Given the description of an element on the screen output the (x, y) to click on. 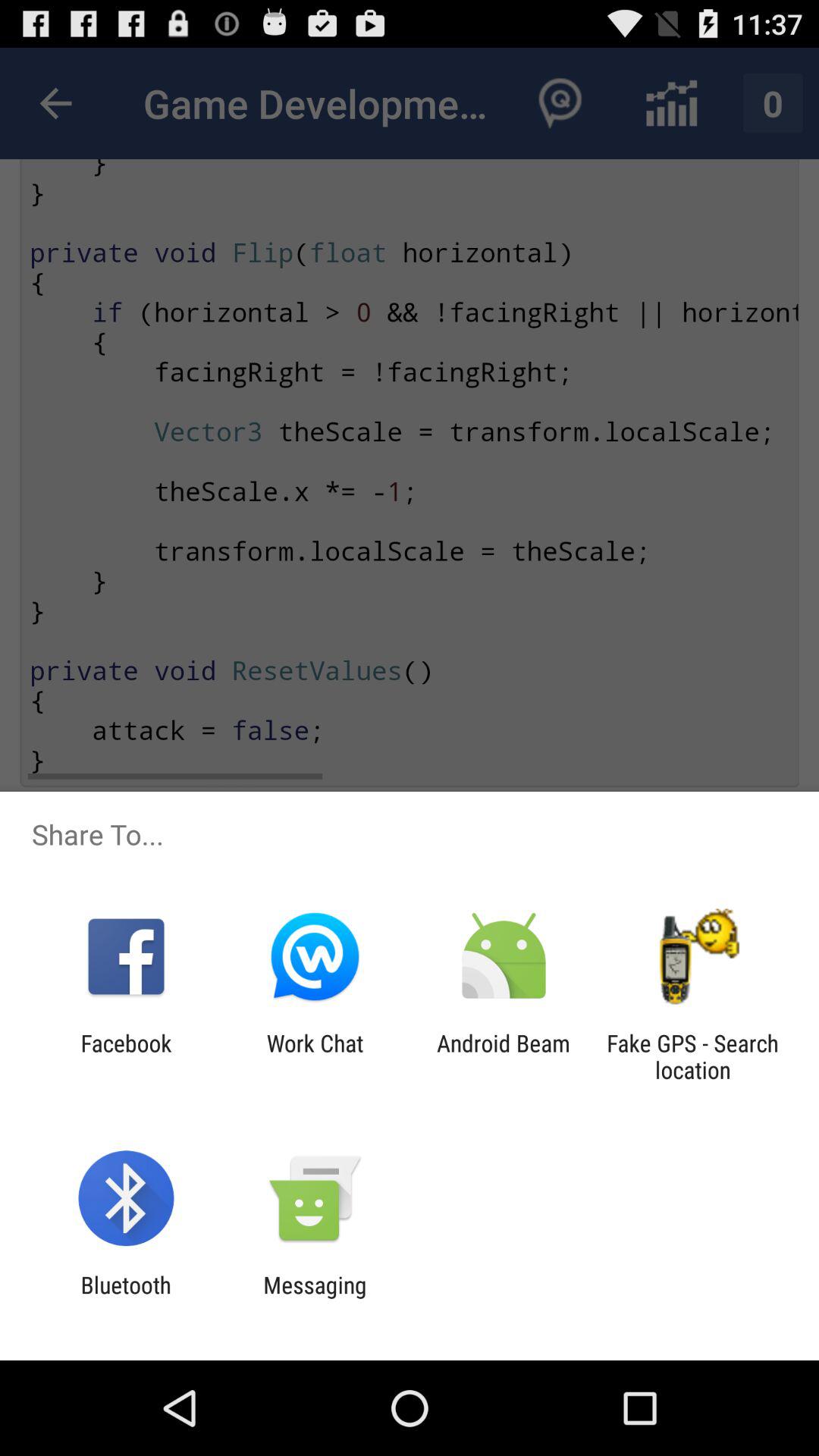
open work chat icon (314, 1056)
